Given the description of an element on the screen output the (x, y) to click on. 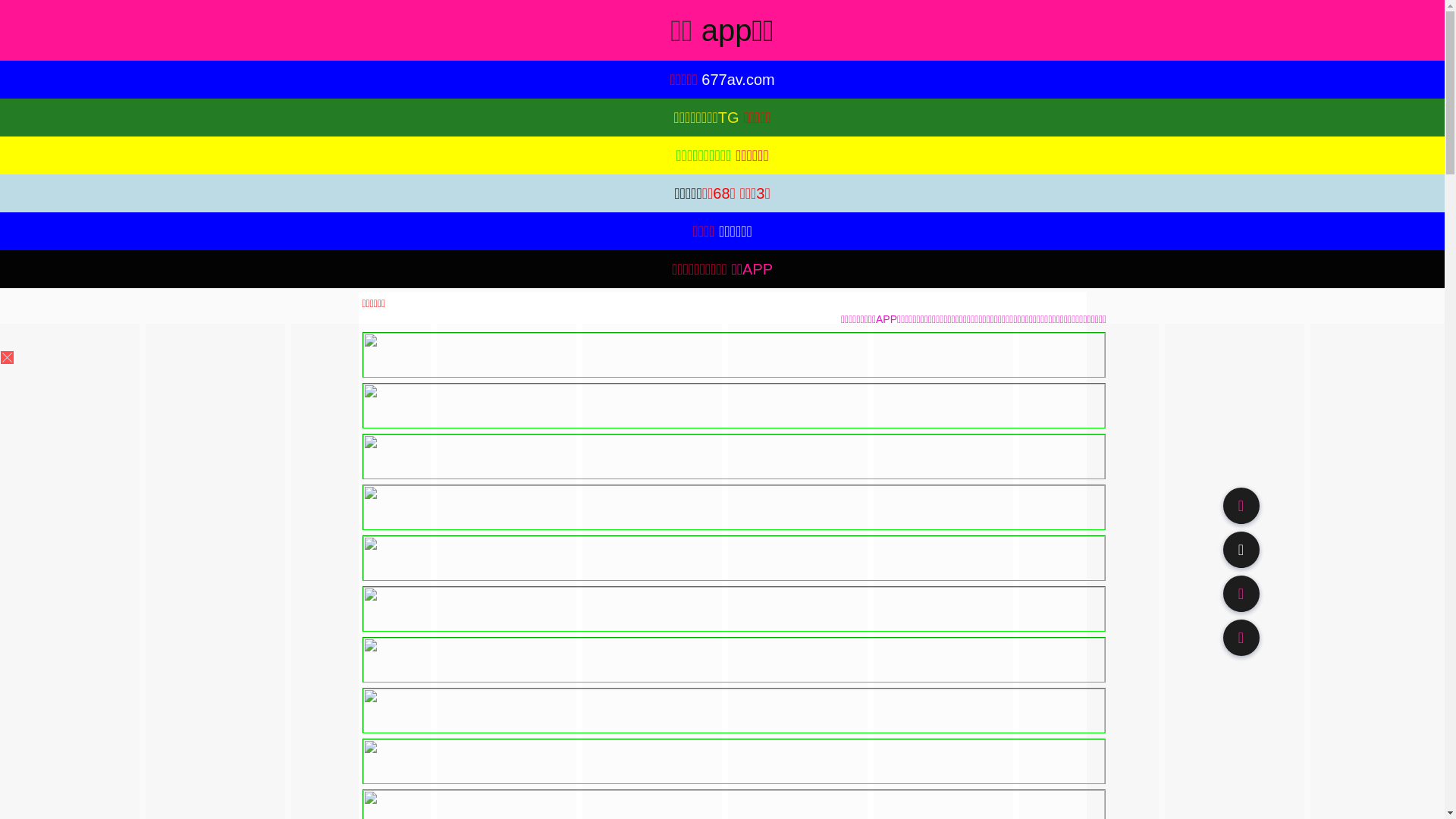
91TV Element type: hover (1240, 593)
